Given the description of an element on the screen output the (x, y) to click on. 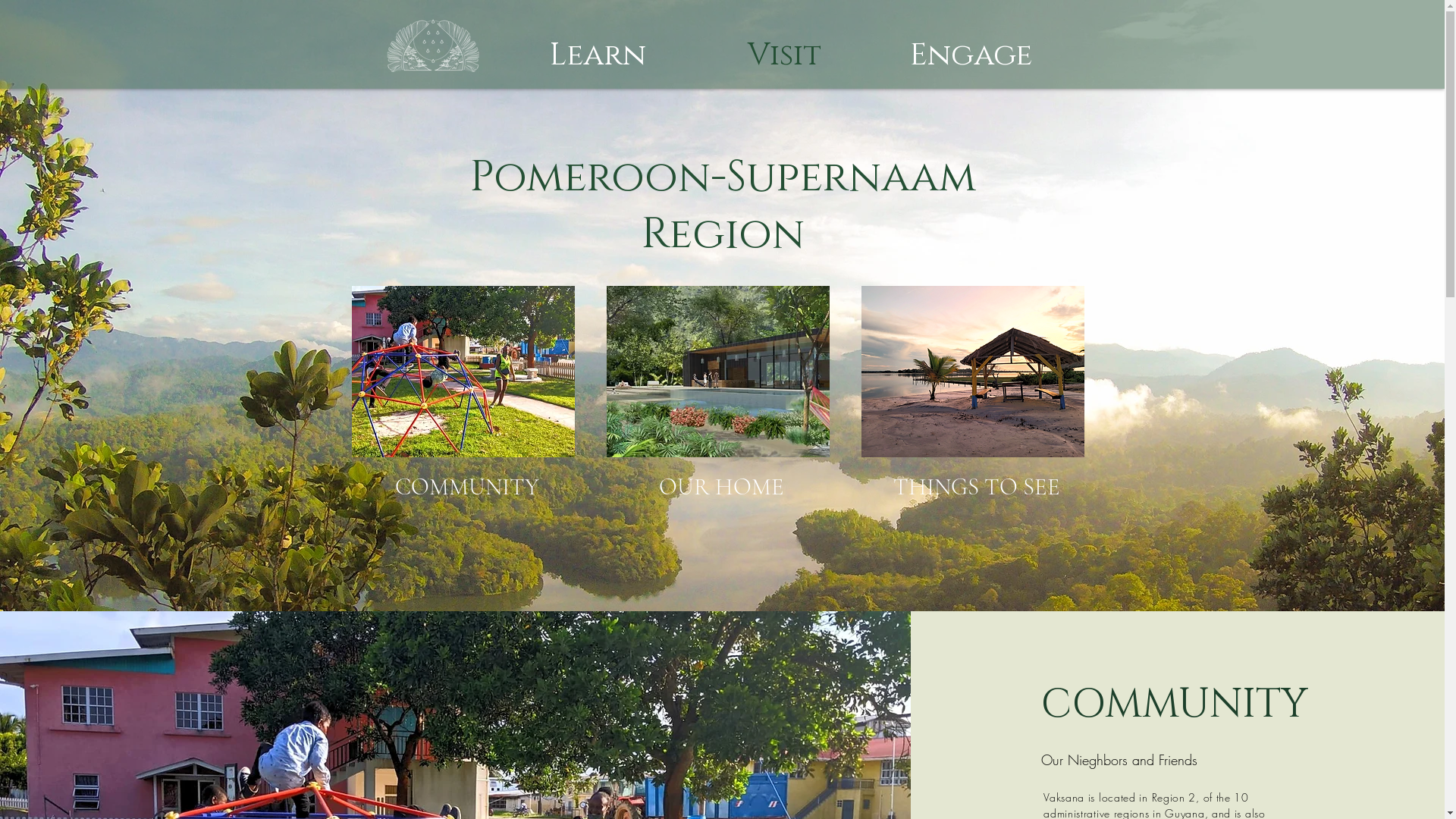
Learn Element type: text (596, 54)
Engage Element type: text (971, 54)
Visit Element type: text (784, 54)
